Given the description of an element on the screen output the (x, y) to click on. 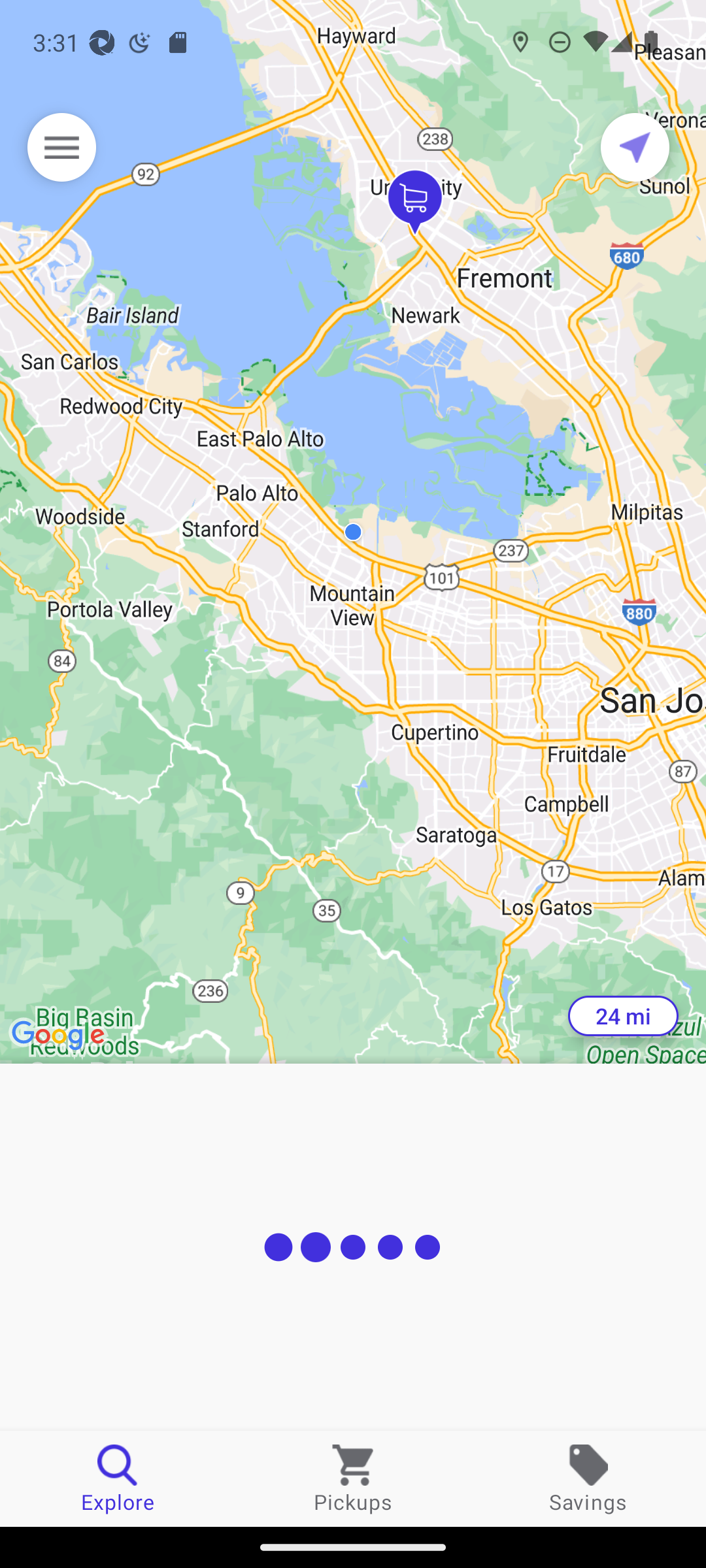
Menu (61, 146)
Current location (634, 146)
24 mi (623, 1015)
Pickups (352, 1478)
Savings (588, 1478)
